Given the description of an element on the screen output the (x, y) to click on. 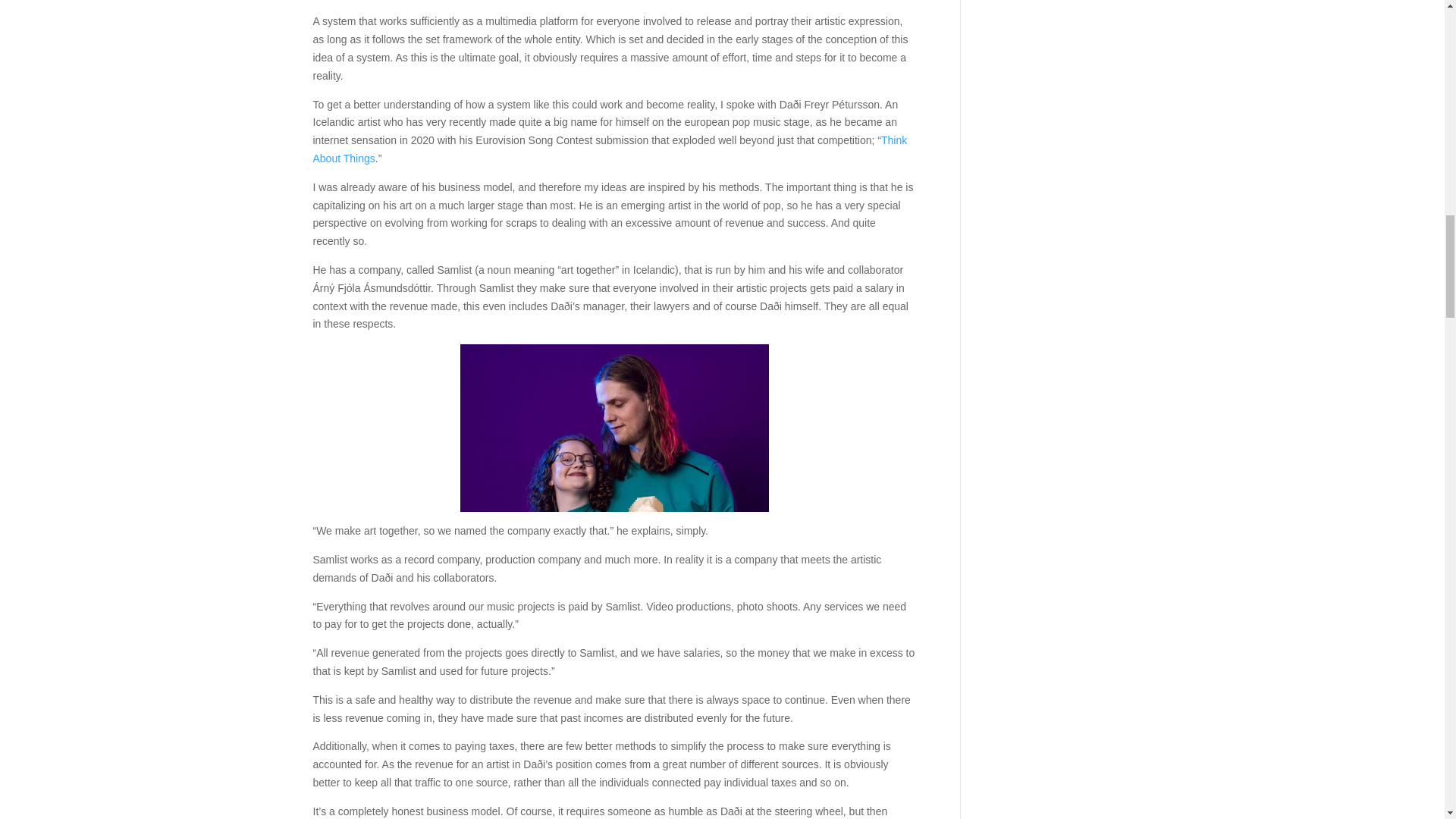
Think About Things (610, 149)
